Given the description of an element on the screen output the (x, y) to click on. 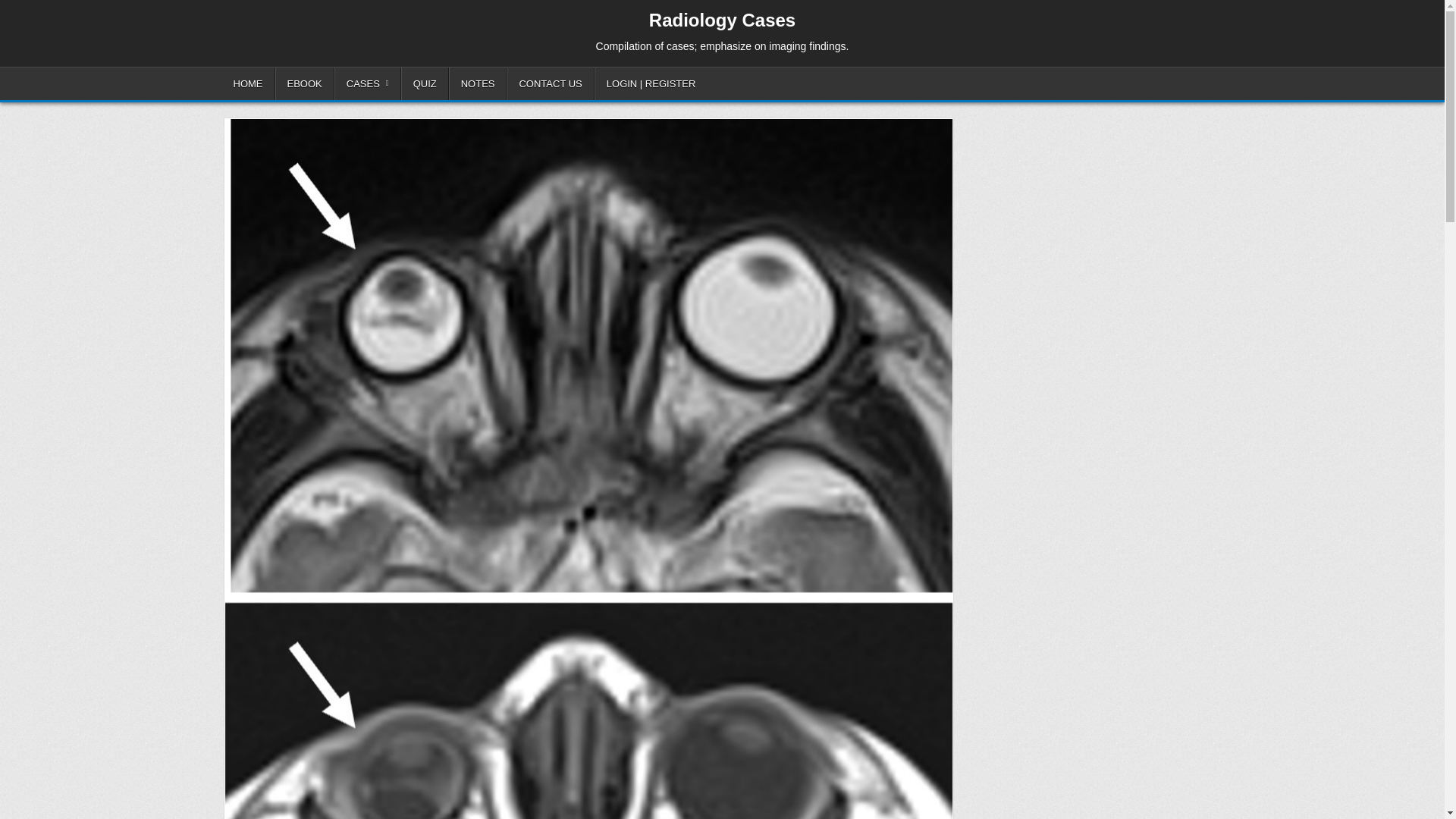
HOME (248, 83)
CONTACT US (550, 83)
NOTES (477, 83)
Radiology Cases (721, 19)
QUIZ (424, 83)
CASES (367, 83)
EBOOK (304, 83)
